Given the description of an element on the screen output the (x, y) to click on. 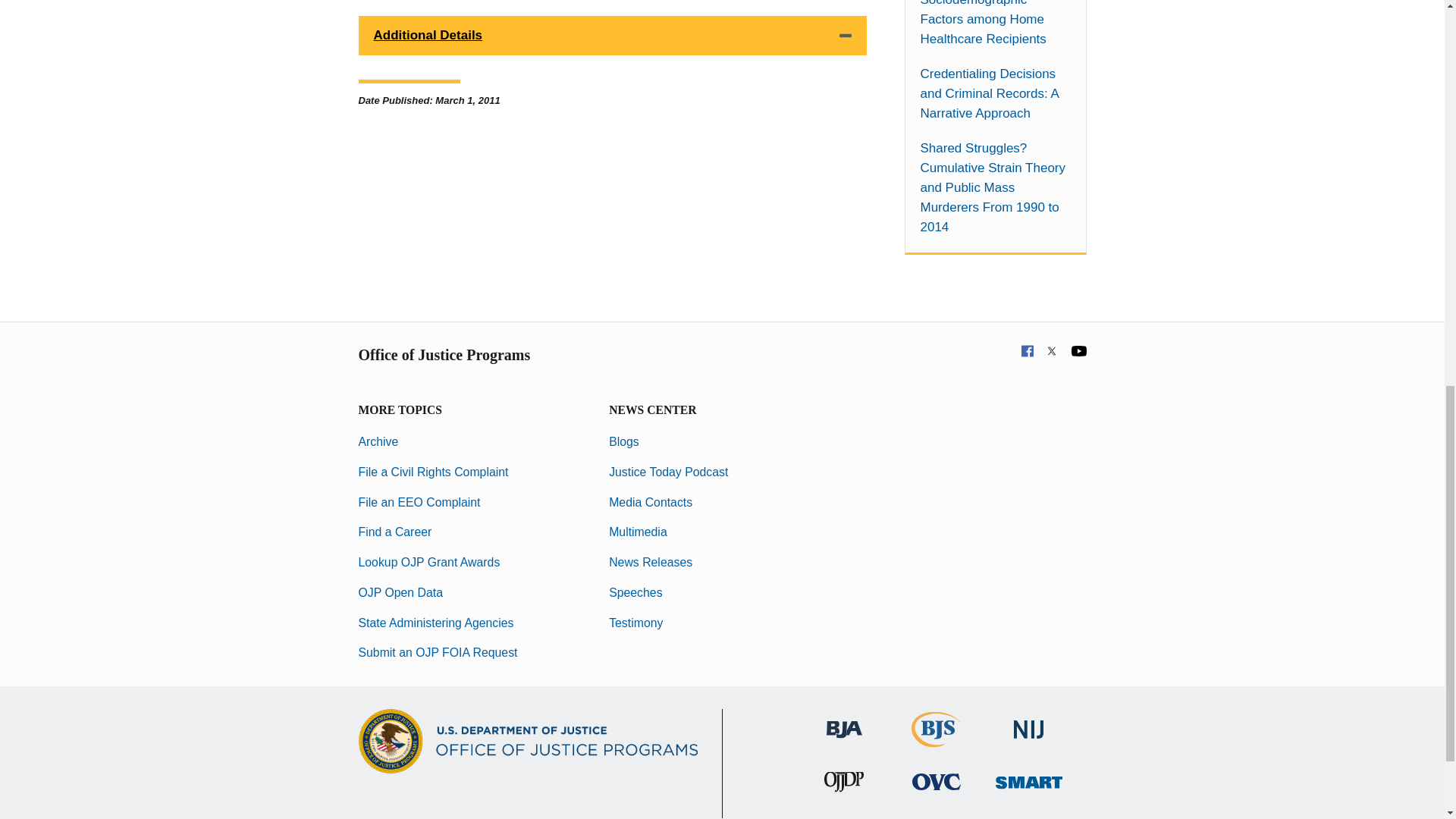
Additional Details (612, 35)
